Given the description of an element on the screen output the (x, y) to click on. 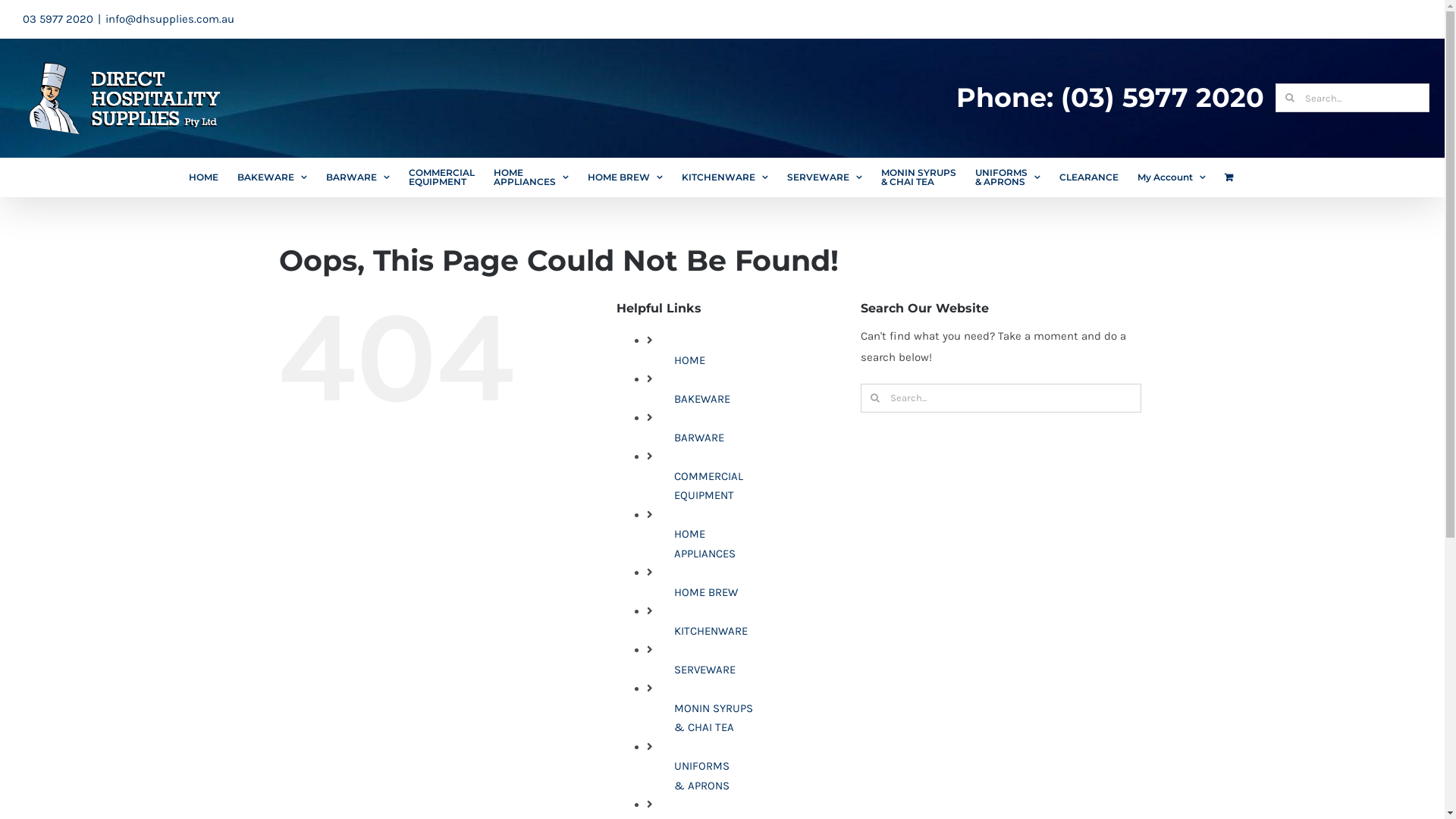
HOME Element type: text (688, 360)
BARWARE Element type: text (357, 176)
HOME
APPLIANCES Element type: text (703, 543)
My Account Element type: text (1171, 176)
HOME BREW Element type: text (624, 176)
HOME BREW Element type: text (705, 592)
KITCHENWARE Element type: text (723, 176)
CLEARANCE Element type: text (1087, 176)
KITCHENWARE Element type: text (709, 630)
SERVEWARE Element type: text (824, 176)
COMMERCIAL
EQUIPMENT Element type: text (440, 176)
info@dhsupplies.com.au Element type: text (169, 18)
HOME Element type: text (202, 176)
SERVEWARE Element type: text (703, 669)
COMMERCIAL
EQUIPMENT Element type: text (707, 485)
HOME
APPLIANCES Element type: text (529, 176)
03 5977 2020 Element type: text (57, 18)
BARWARE Element type: text (698, 437)
MONIN SYRUPS
& CHAI TEA Element type: text (918, 176)
BAKEWARE Element type: text (271, 176)
UNIFORMS
& APRONS Element type: text (700, 775)
BAKEWARE Element type: text (701, 398)
UNIFORMS
& APRONS Element type: text (1007, 176)
Log In Element type: text (1231, 321)
Phone: (03) 5977 2020 Element type: text (1110, 97)
MONIN SYRUPS
& CHAI TEA Element type: text (712, 717)
